Given the description of an element on the screen output the (x, y) to click on. 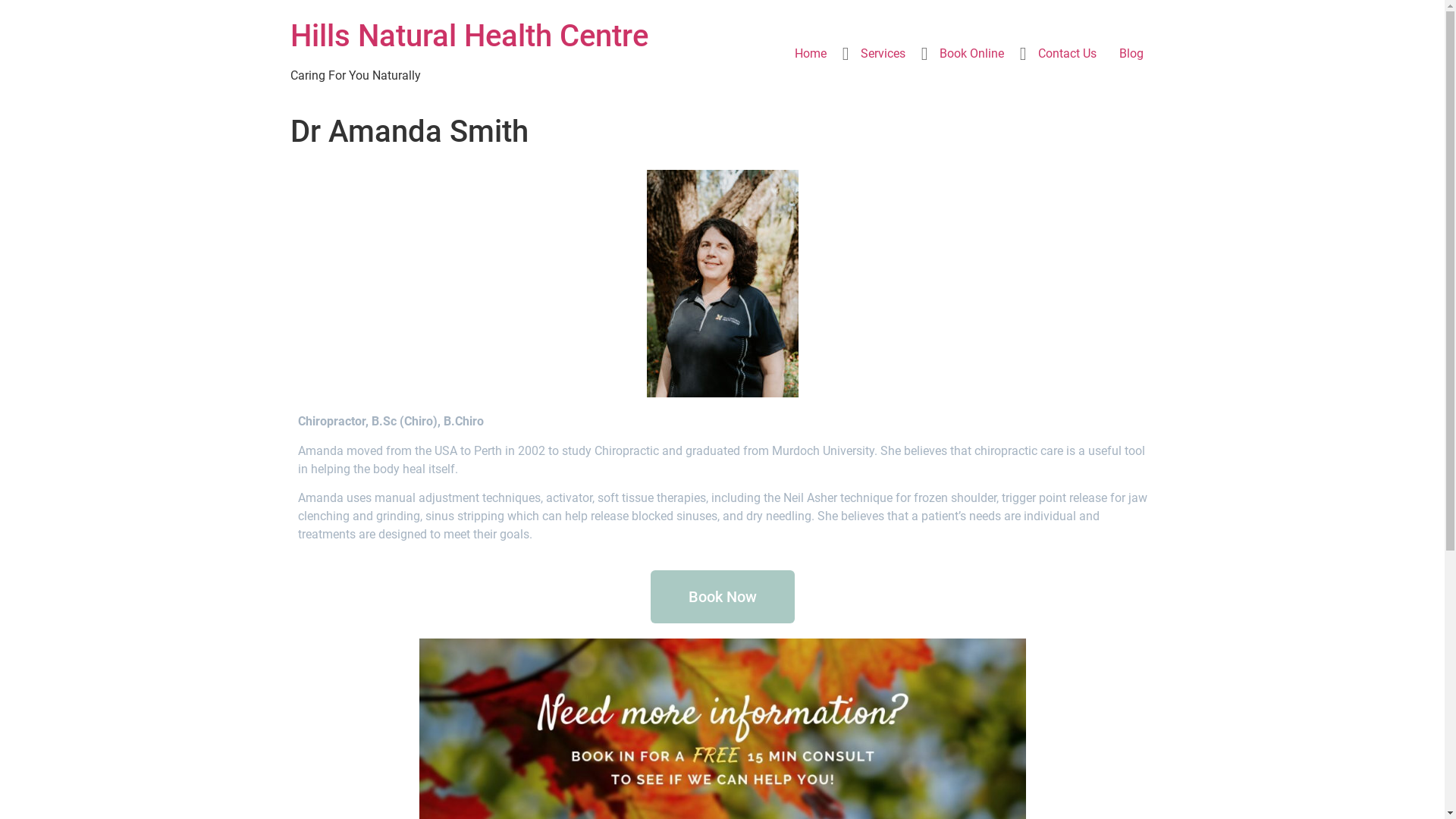
Home Element type: text (809, 53)
Services Element type: text (882, 53)
Book Online Element type: text (971, 53)
Blog Element type: text (1130, 53)
Hills Natural Health Centre Element type: text (468, 35)
Contact Us Element type: text (1066, 53)
Book Now Element type: text (722, 596)
